Given the description of an element on the screen output the (x, y) to click on. 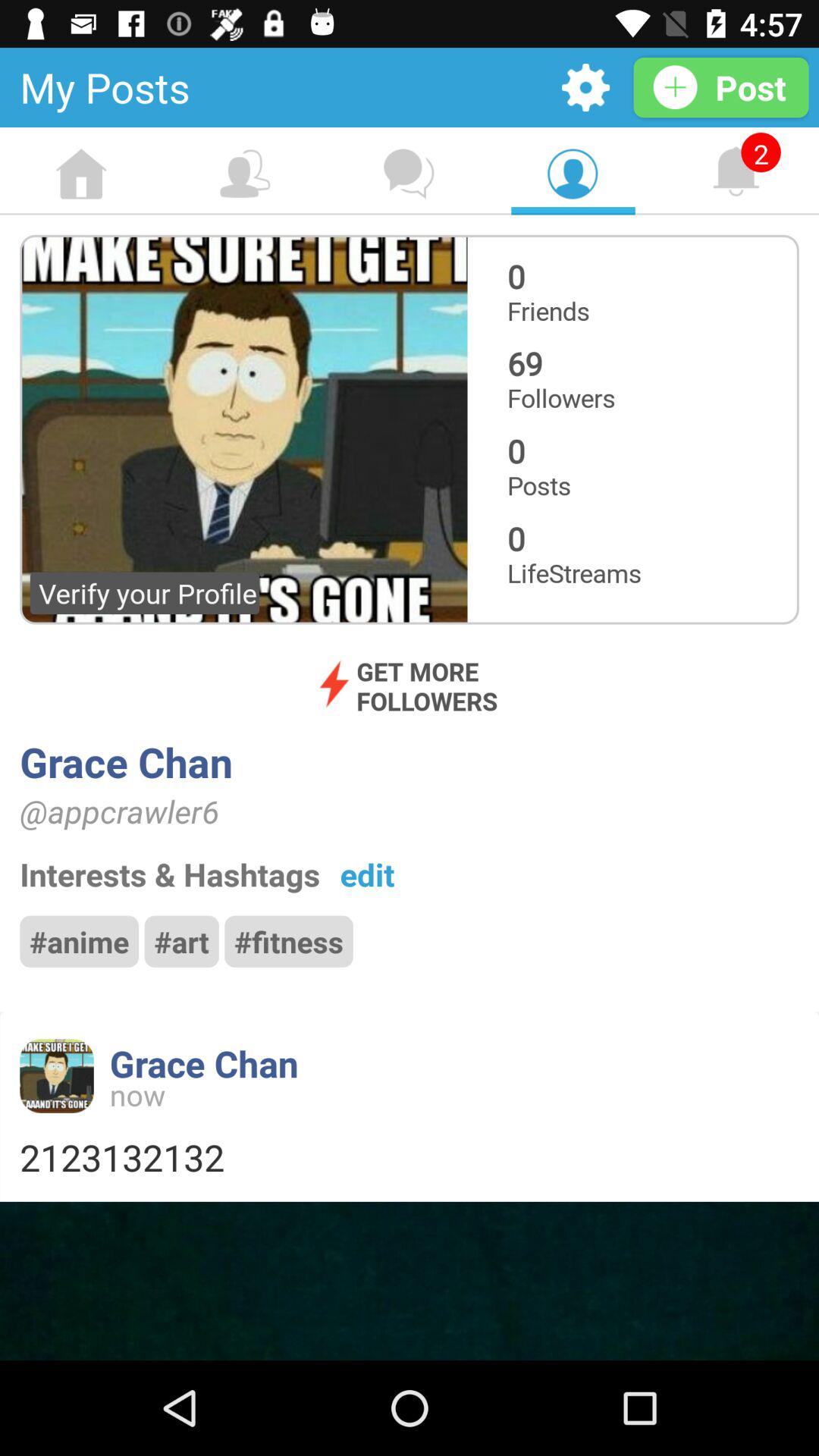
go to the text which is left to the text art (78, 941)
select the number from the bottom of the screen (409, 1157)
select the image which is before now on the page (56, 1075)
select the 2nd icon from left just below text my posts (245, 174)
select the symbol which is to the immediate left of notification icon (572, 174)
